Given the description of an element on the screen output the (x, y) to click on. 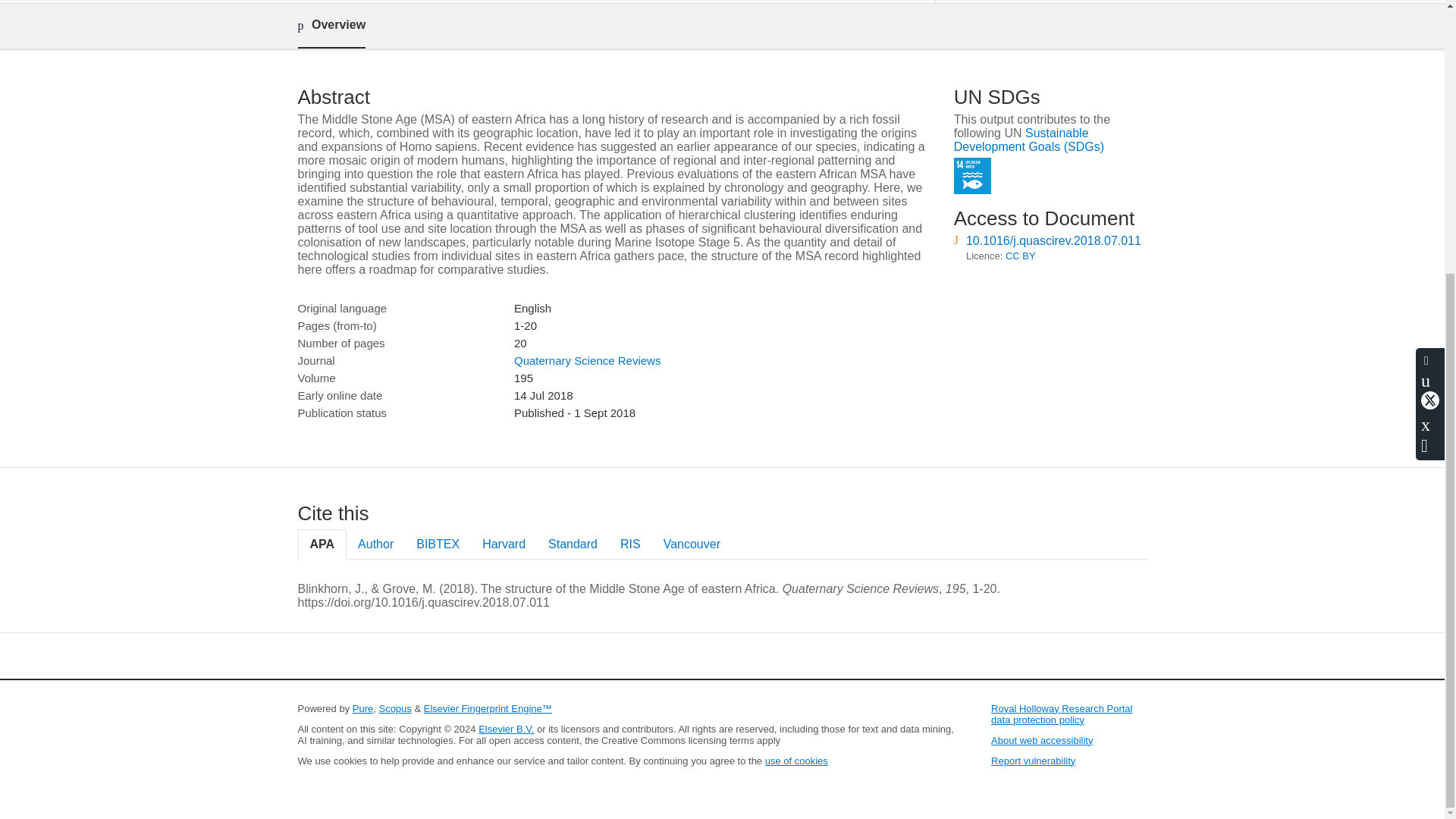
Overview (331, 26)
Quaternary Science Reviews (587, 359)
Scopus (394, 708)
Royal Holloway Research Portal data protection policy (1061, 713)
Pure (362, 708)
SDG 14 - Life Below Water (972, 176)
About web accessibility (1042, 740)
Elsevier B.V. (506, 728)
Report vulnerability (1033, 760)
use of cookies (796, 760)
CC BY (1020, 255)
